Given the description of an element on the screen output the (x, y) to click on. 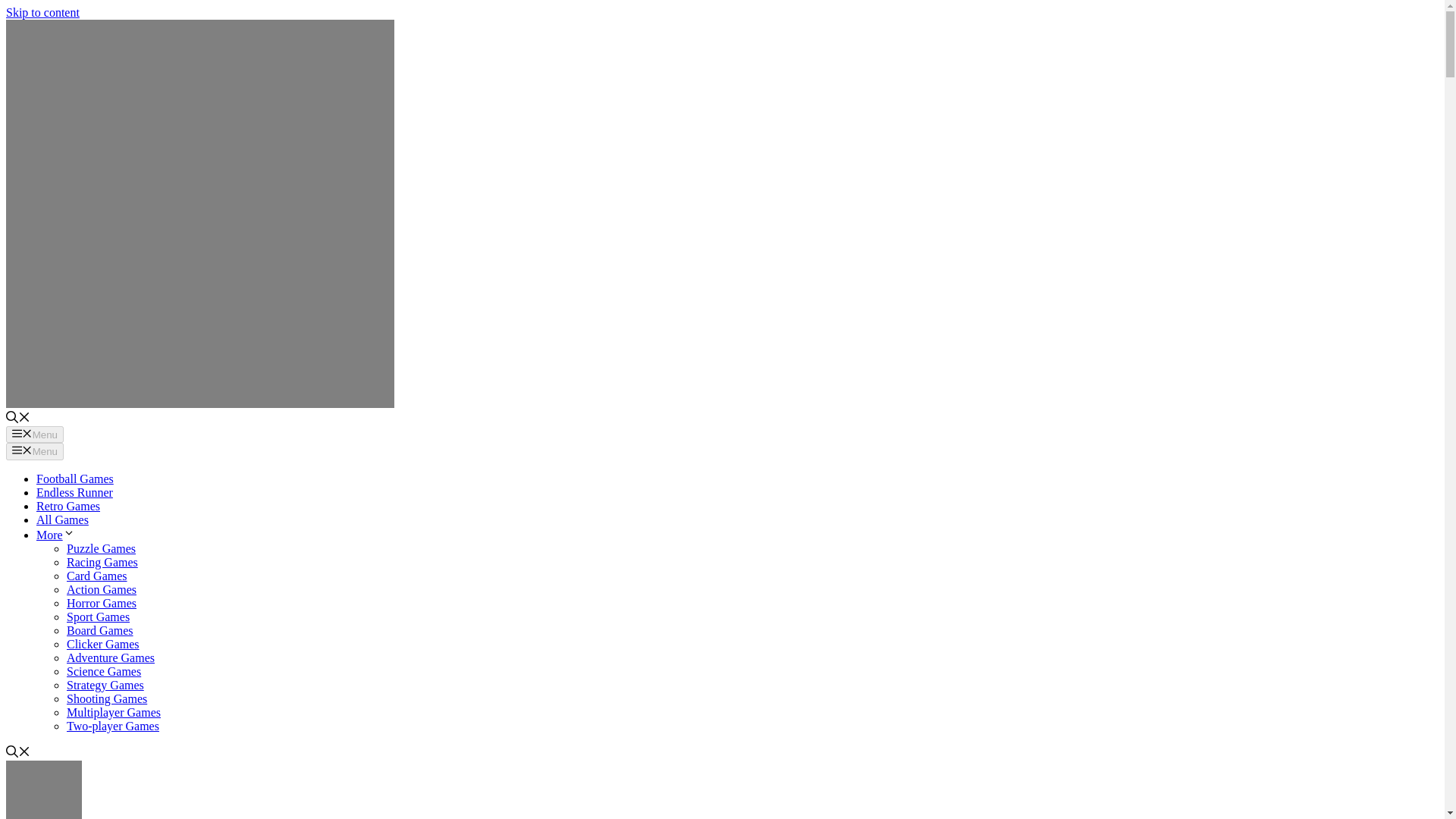
Two-player Games (112, 725)
Skip to content (42, 11)
Skip to content (42, 11)
Sport Games (97, 616)
Adventure Games (110, 657)
Board Games (99, 630)
Horror Games (101, 603)
Card Games (97, 575)
Science Games (103, 671)
Menu (34, 434)
Strategy Games (105, 684)
Multiplayer Games (113, 712)
Menu (34, 451)
Retro Games (68, 505)
Action Games (101, 589)
